Given the description of an element on the screen output the (x, y) to click on. 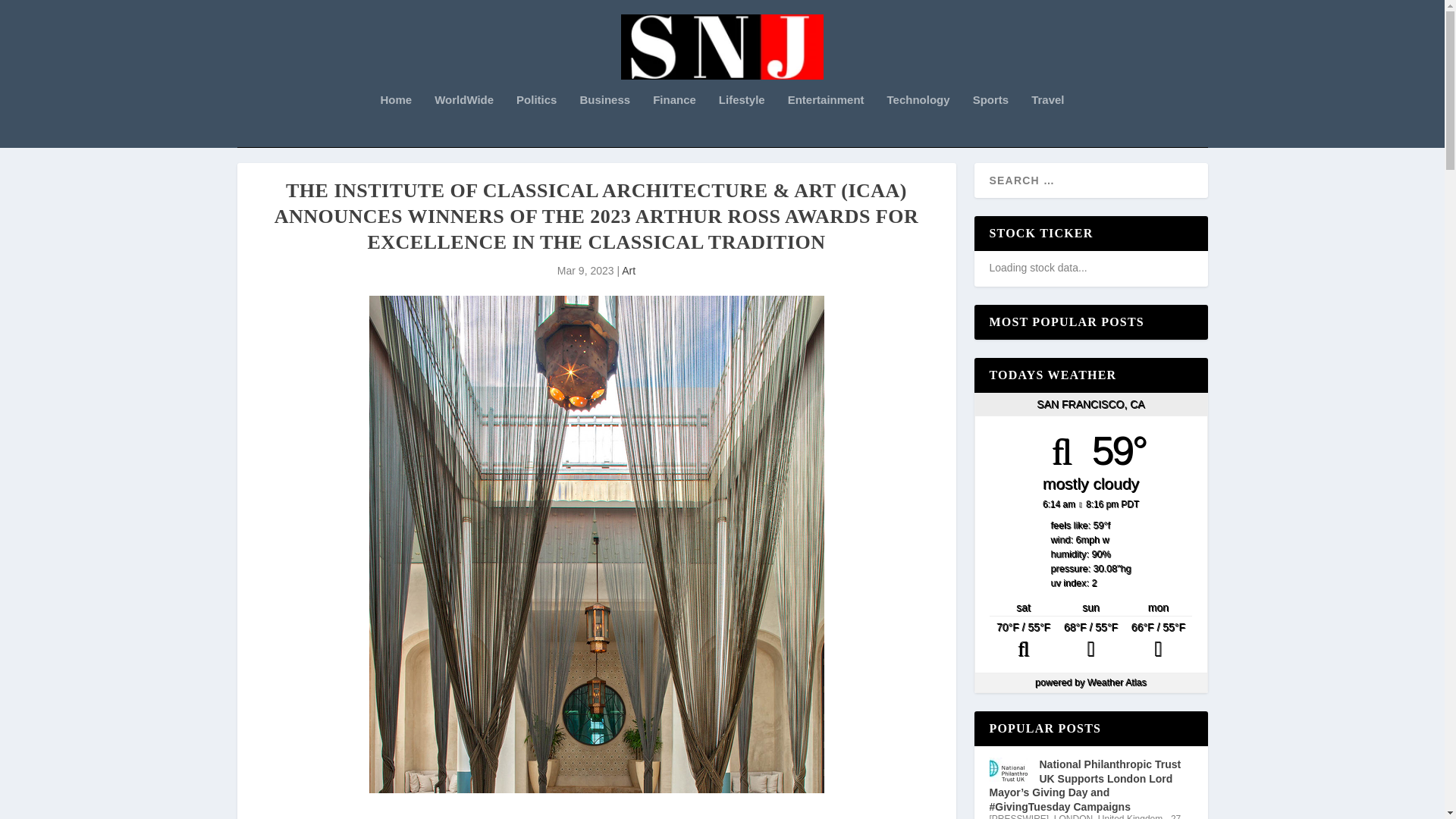
Business (604, 120)
Art (627, 270)
Entertainment (825, 120)
Search (31, 13)
Technology (918, 120)
WorldWide (463, 120)
